Given the description of an element on the screen output the (x, y) to click on. 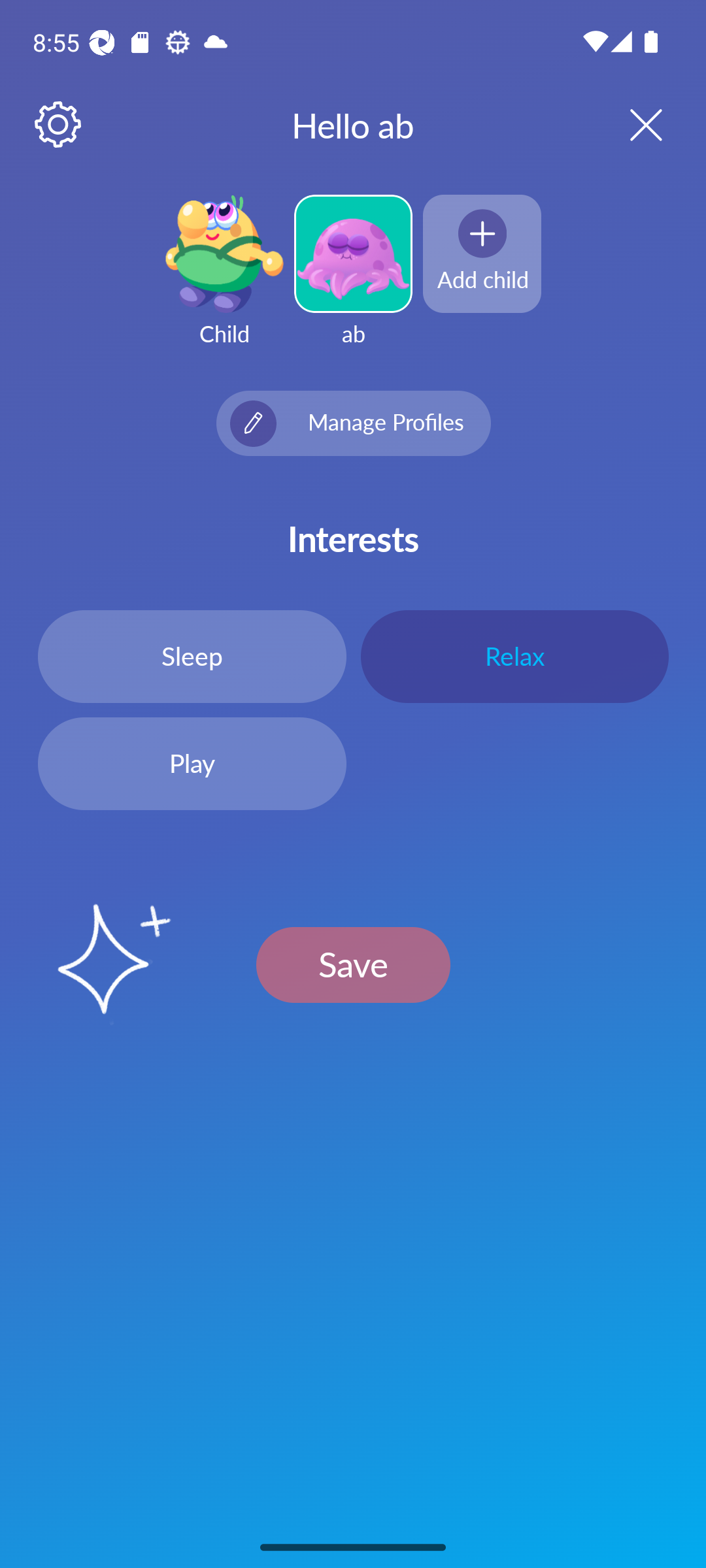
Close (629, 124)
Settings (58, 125)
Child (224, 282)
ab (353, 282)
Add child (481, 253)
icon Manage Profiles (353, 423)
Sleep (192, 655)
Relax (514, 655)
Play (192, 764)
Save (353, 964)
